Given the description of an element on the screen output the (x, y) to click on. 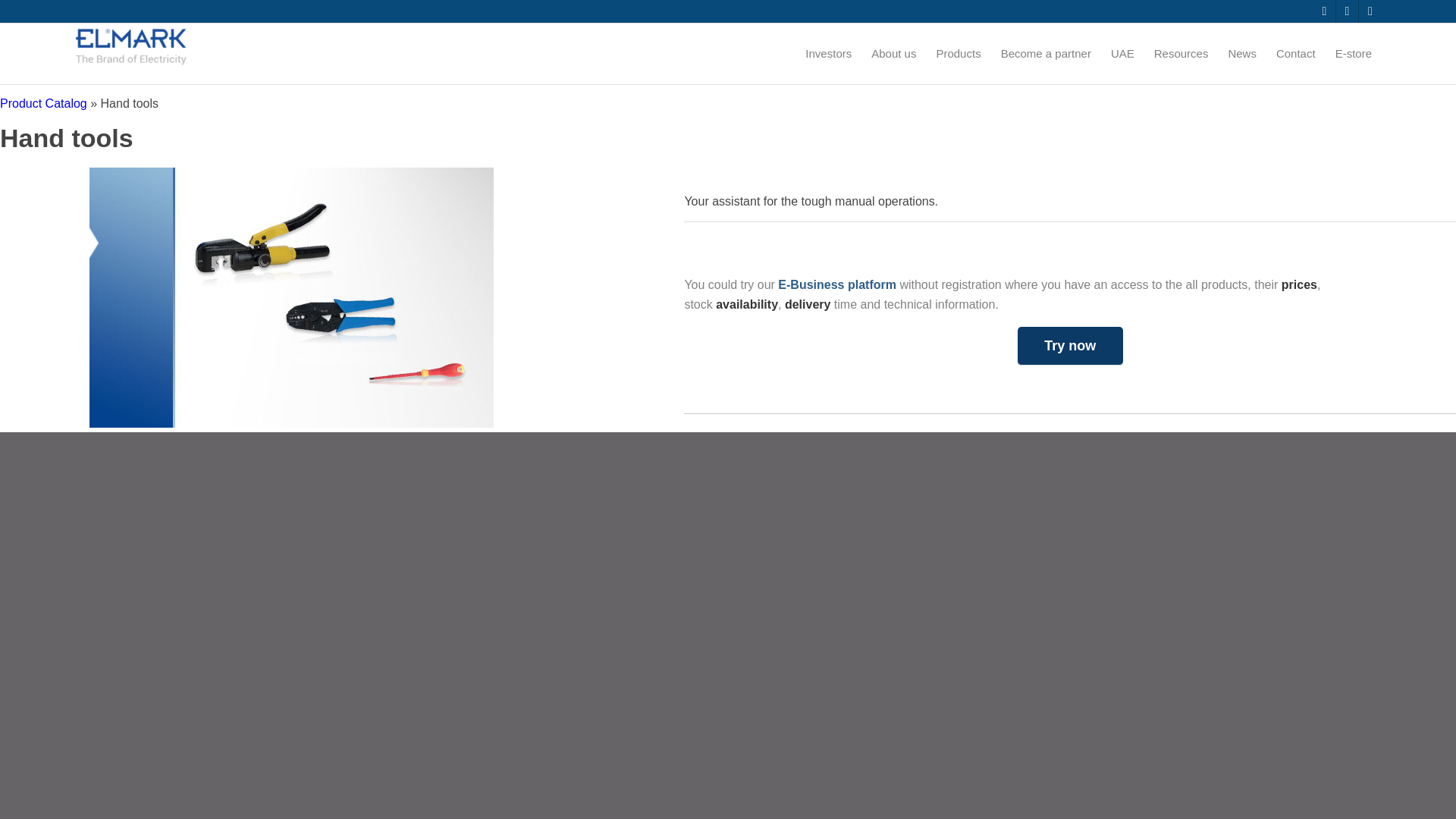
E-store (1352, 53)
Products (958, 53)
Facebook (1369, 11)
Become a partner (1045, 53)
Try now (1069, 345)
Investors (827, 53)
Contact (1295, 53)
LinkedIn (1324, 11)
Resources (1181, 53)
About us (893, 53)
